Given the description of an element on the screen output the (x, y) to click on. 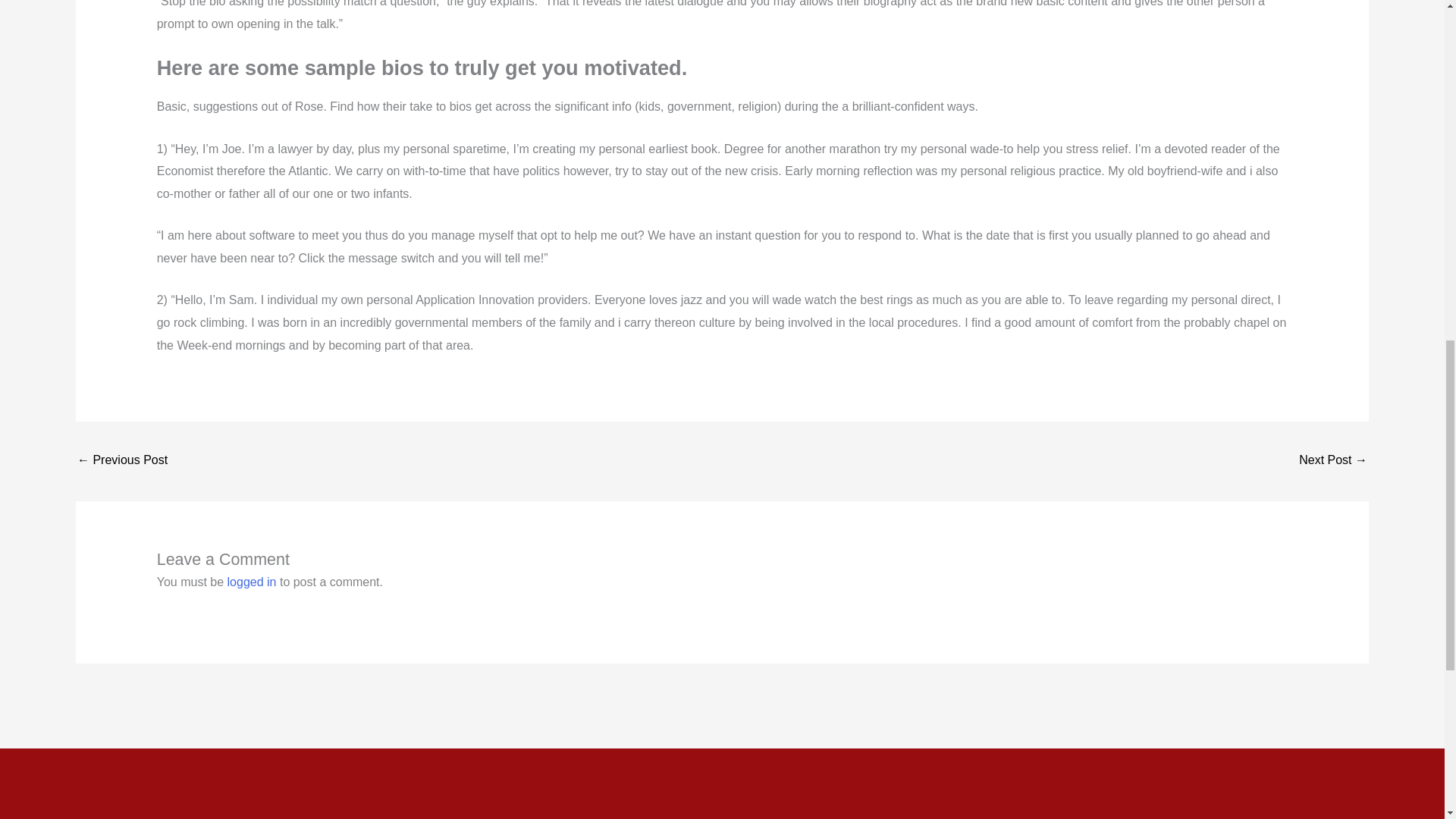
logged in (251, 581)
WTF are good Reddit and you can Is there Porn? (122, 461)
